Given the description of an element on the screen output the (x, y) to click on. 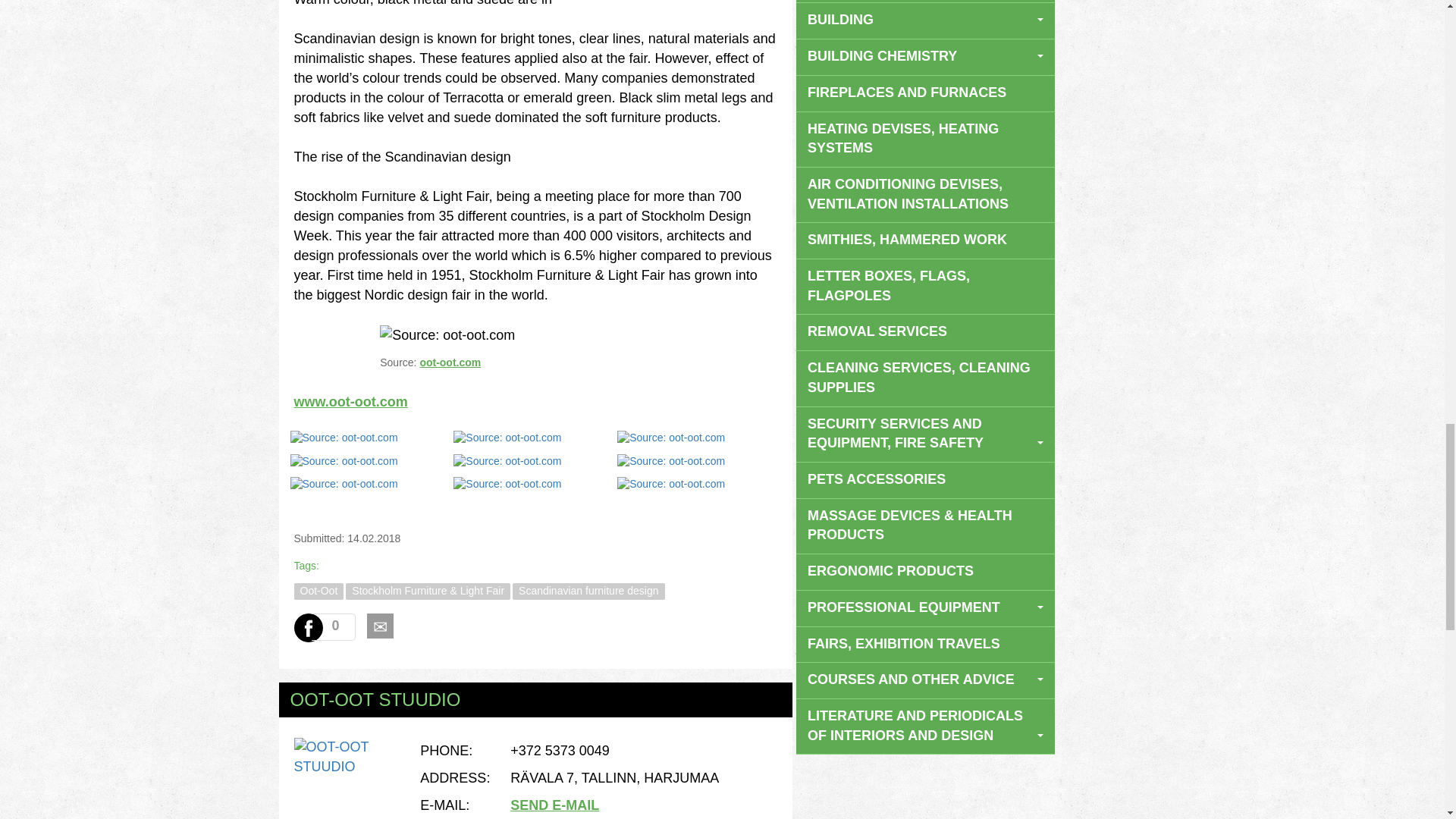
  Source:  oot-oot.com   (506, 437)
  Source:  oot-oot.com   (671, 437)
  Source:  oot-oot.com   (343, 484)
  Source:  oot-oot.com   (671, 484)
  Source:  oot-oot.com   (506, 484)
  Source:  oot-oot.com   (506, 460)
  Source:  oot-oot.com   (671, 460)
  Source:  oot-oot.com   (343, 460)
  Source:  oot-oot.com   (343, 437)
